Given the description of an element on the screen output the (x, y) to click on. 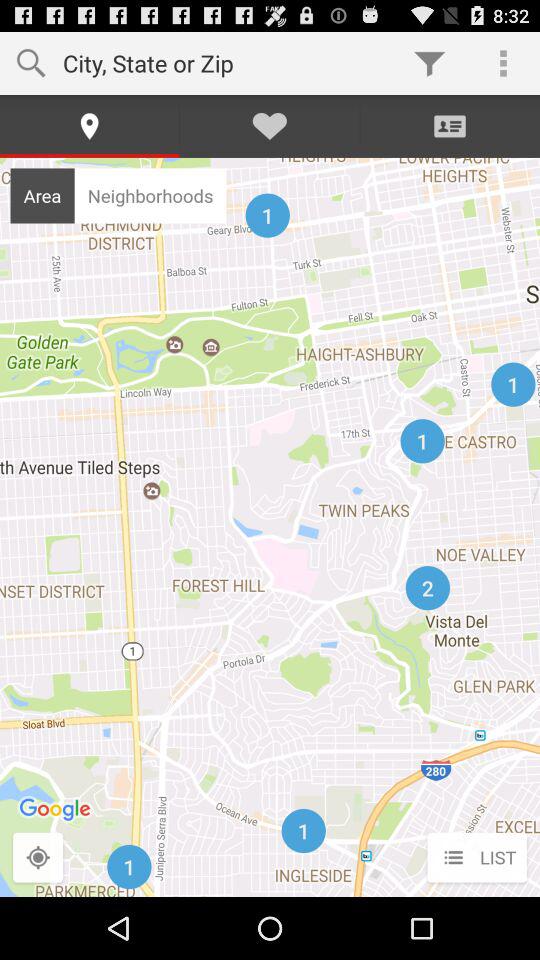
turn on icon next to the list (37, 858)
